Given the description of an element on the screen output the (x, y) to click on. 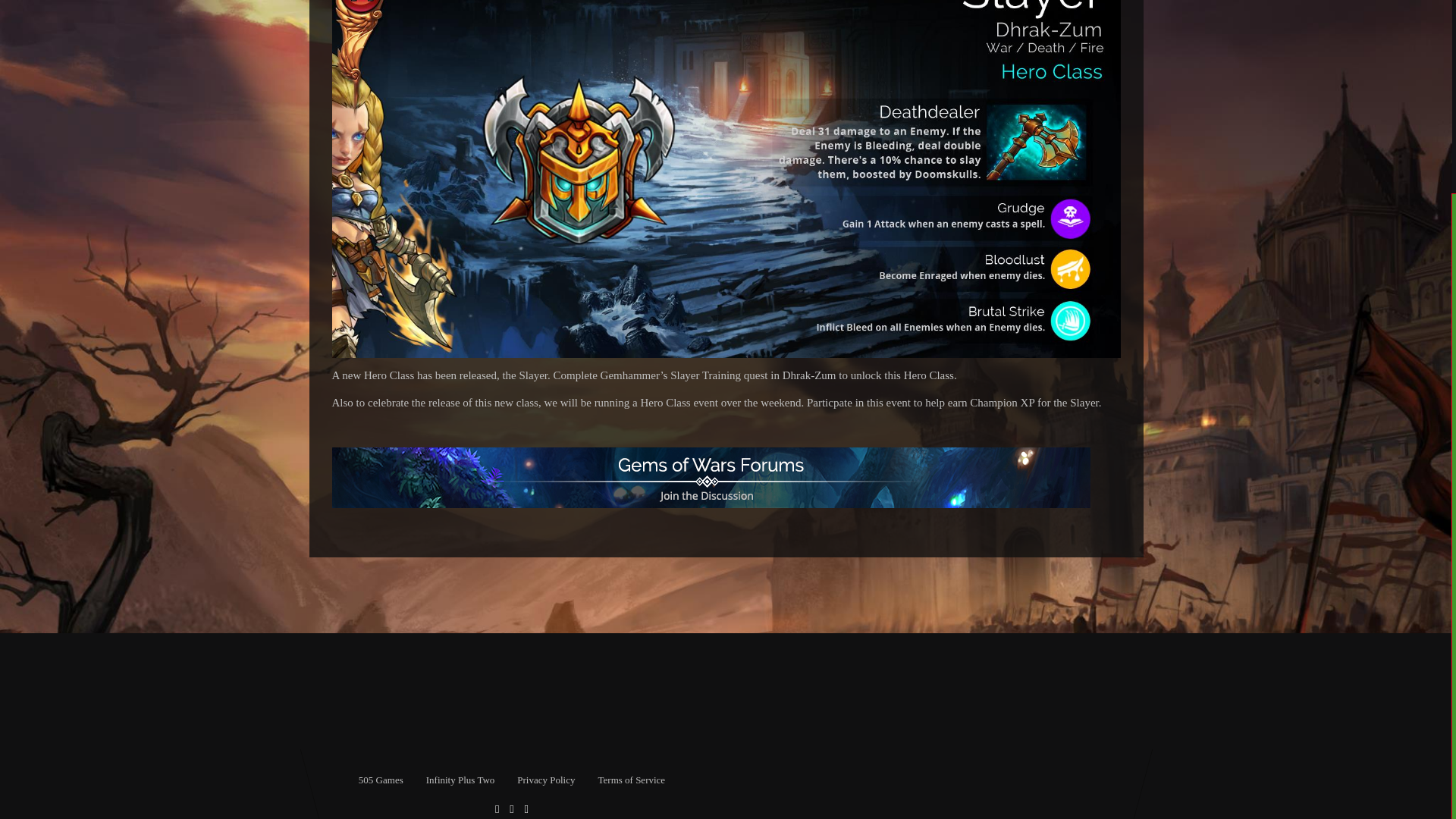
Privacy Policy (545, 779)
Terms of Service (630, 779)
505 Games (380, 779)
Infinity Plus Two (460, 779)
